Given the description of an element on the screen output the (x, y) to click on. 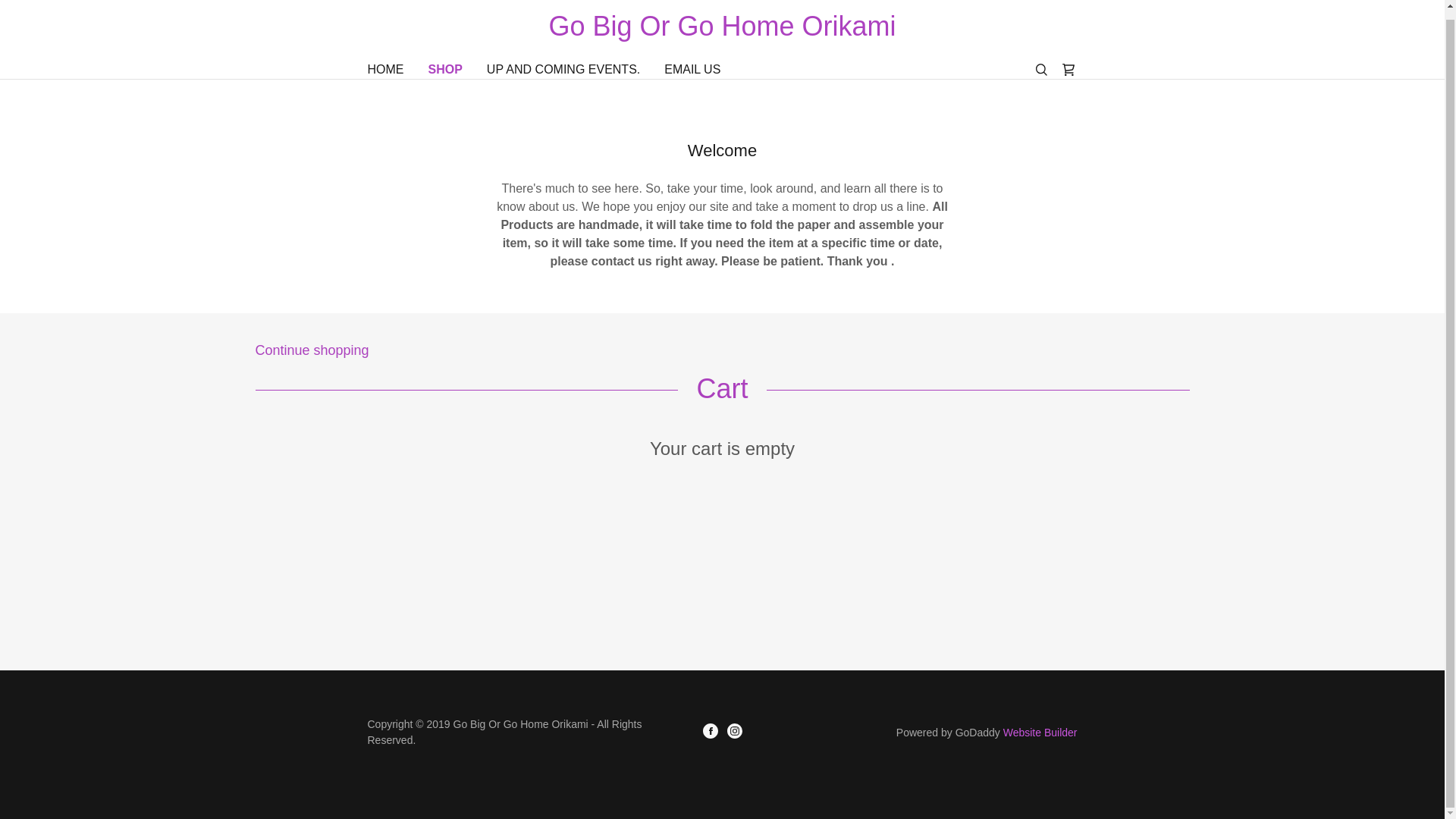
Go Big Or Go Home Orikami (721, 25)
HOME (384, 69)
SHOP (444, 69)
Website Builder (1040, 732)
EMAIL US (692, 69)
Continue shopping (721, 349)
Go Big Or Go Home Orikami (721, 25)
UP AND COMING EVENTS. (563, 69)
